Given the description of an element on the screen output the (x, y) to click on. 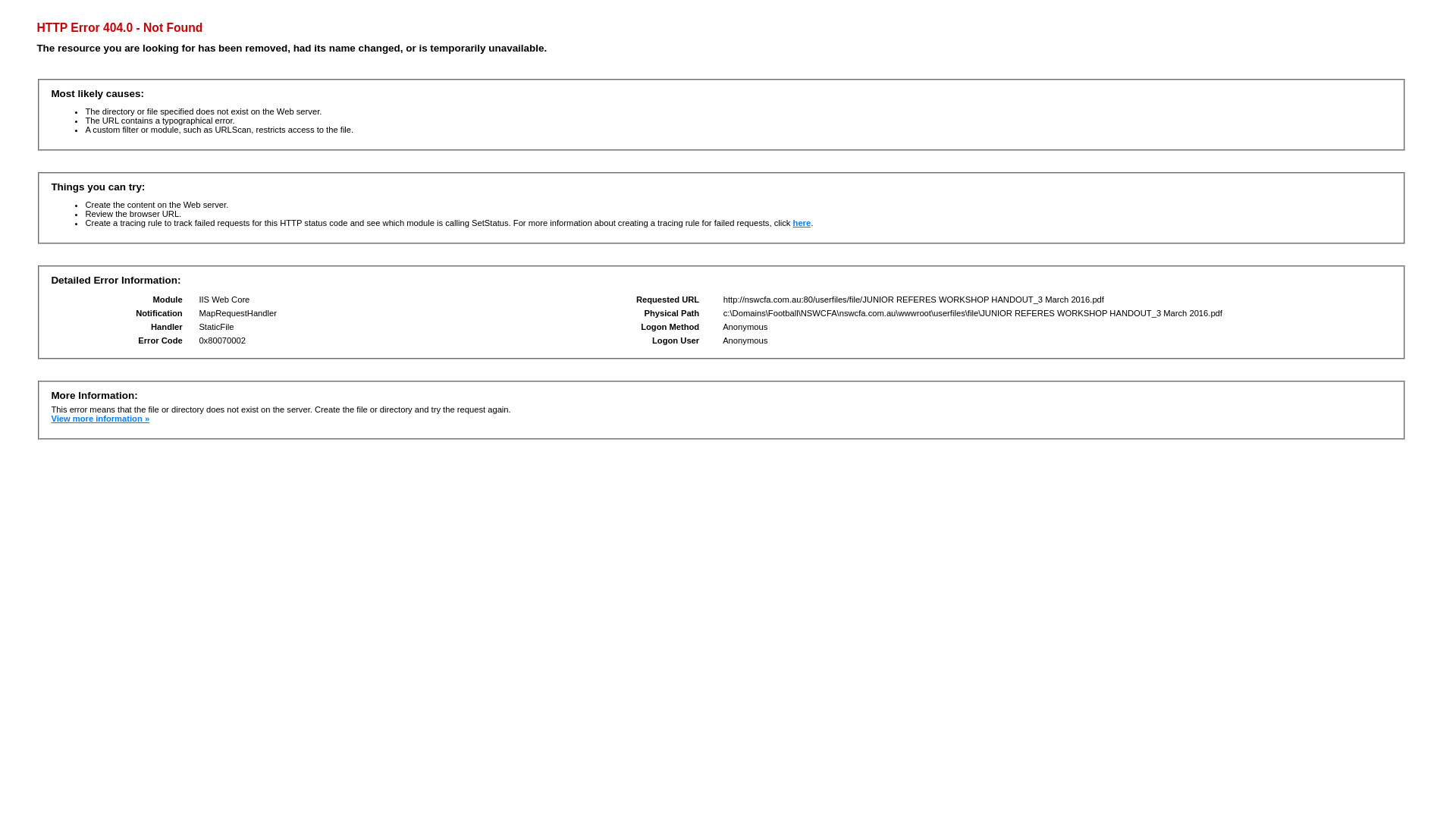
here Element type: text (802, 222)
